Given the description of an element on the screen output the (x, y) to click on. 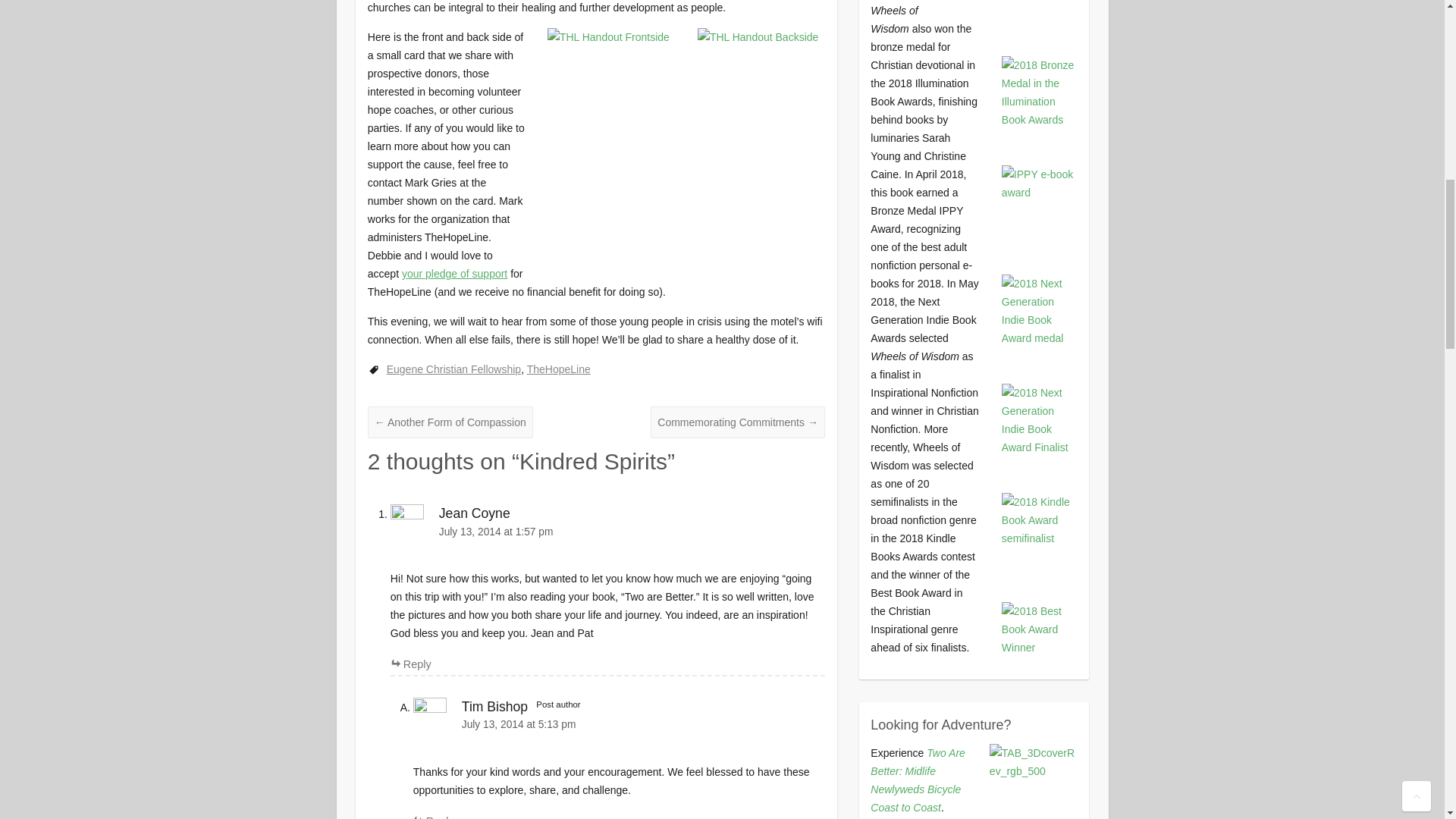
Eugene Christian Fellowship (454, 369)
your pledge of support (453, 273)
July 13, 2014 at 1:57 pm (607, 531)
July 13, 2014 at 5:13 pm (619, 724)
TheHopeLine (559, 369)
Reply (410, 664)
Reply (433, 816)
Pledge Form (453, 273)
